Given the description of an element on the screen output the (x, y) to click on. 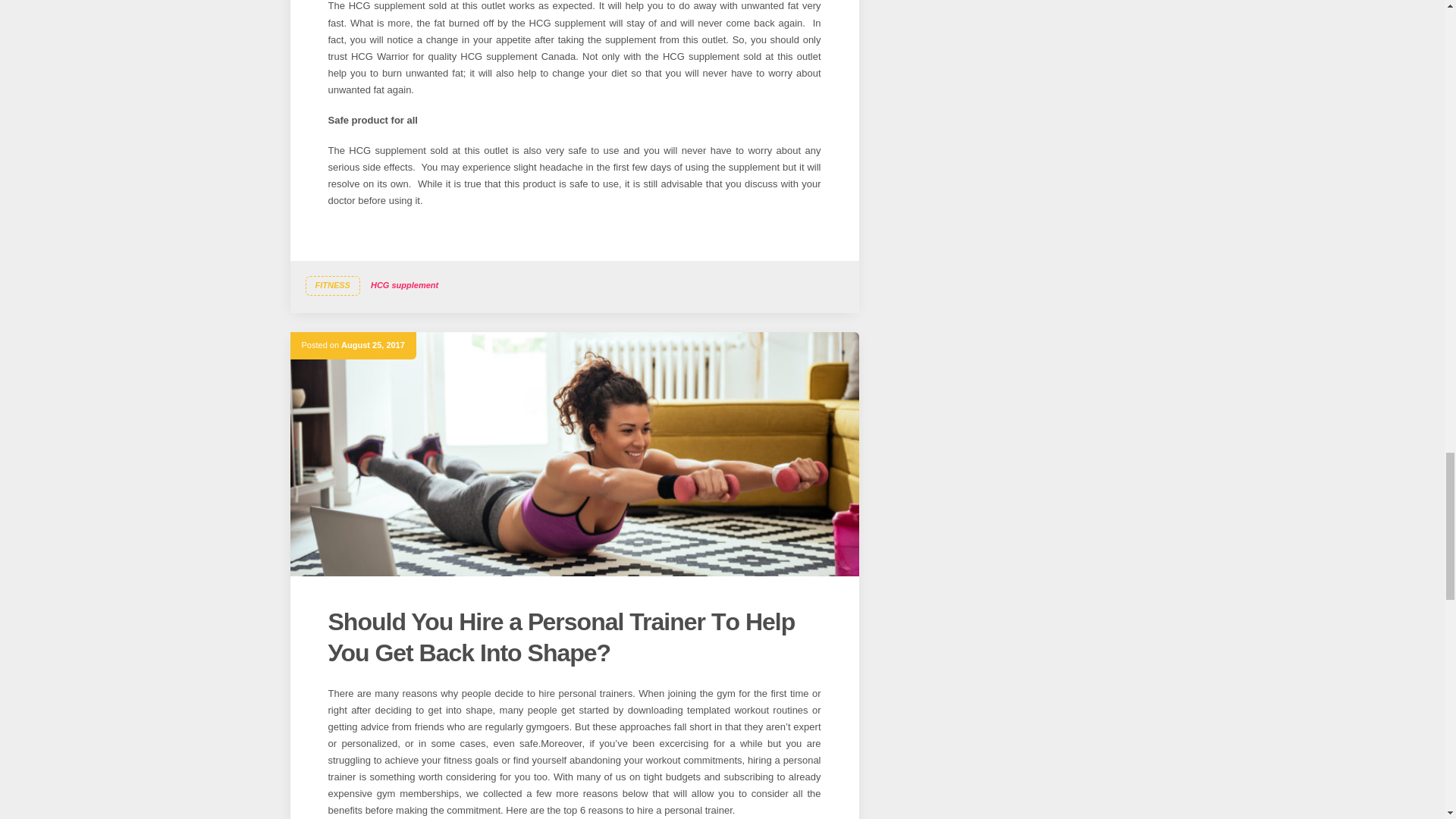
HCG supplement (404, 285)
August 25, 2017 (372, 344)
FITNESS (331, 285)
